Given the description of an element on the screen output the (x, y) to click on. 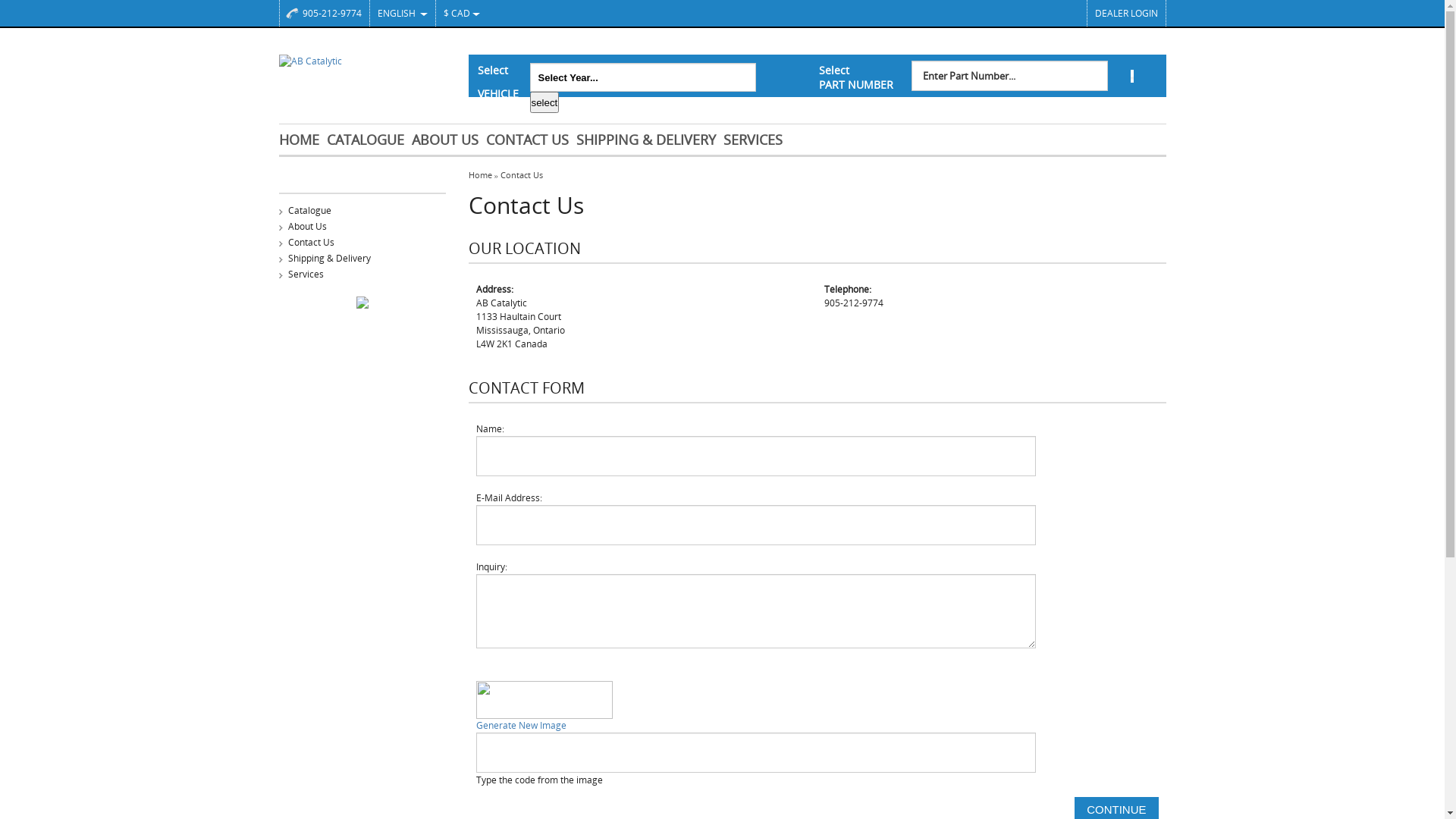
Contact Us Element type: text (521, 174)
Home Element type: text (480, 174)
CONTACT US Element type: text (530, 139)
select Element type: text (543, 101)
Generate New Image Element type: text (817, 725)
ABOUT US Element type: text (448, 139)
DEALER LOGIN Element type: text (1124, 13)
AB Catalytic Element type: hover (362, 61)
Contact Us Element type: text (362, 241)
HOME Element type: text (302, 139)
Catalogue Element type: text (362, 209)
Shipping & Delivery Element type: text (362, 257)
CATALOGUE Element type: text (368, 139)
ENGLISH Element type: text (396, 12)
SERVICES Element type: text (756, 139)
SHIPPING & DELIVERY Element type: text (649, 139)
About Us Element type: text (362, 225)
905-212-9774 Element type: text (323, 13)
Services Element type: text (362, 273)
